Given the description of an element on the screen output the (x, y) to click on. 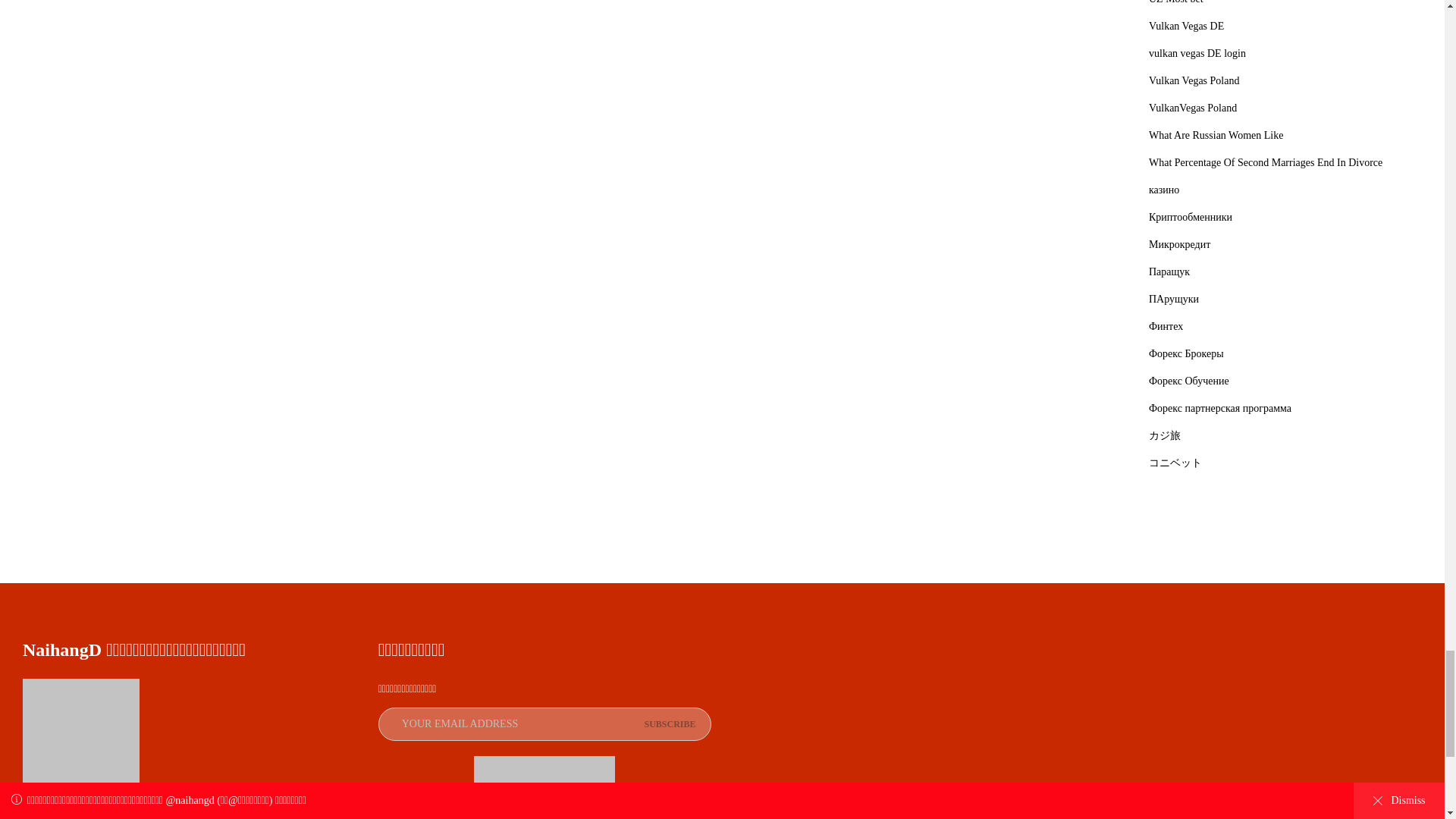
Subscribe (669, 724)
